Given the description of an element on the screen output the (x, y) to click on. 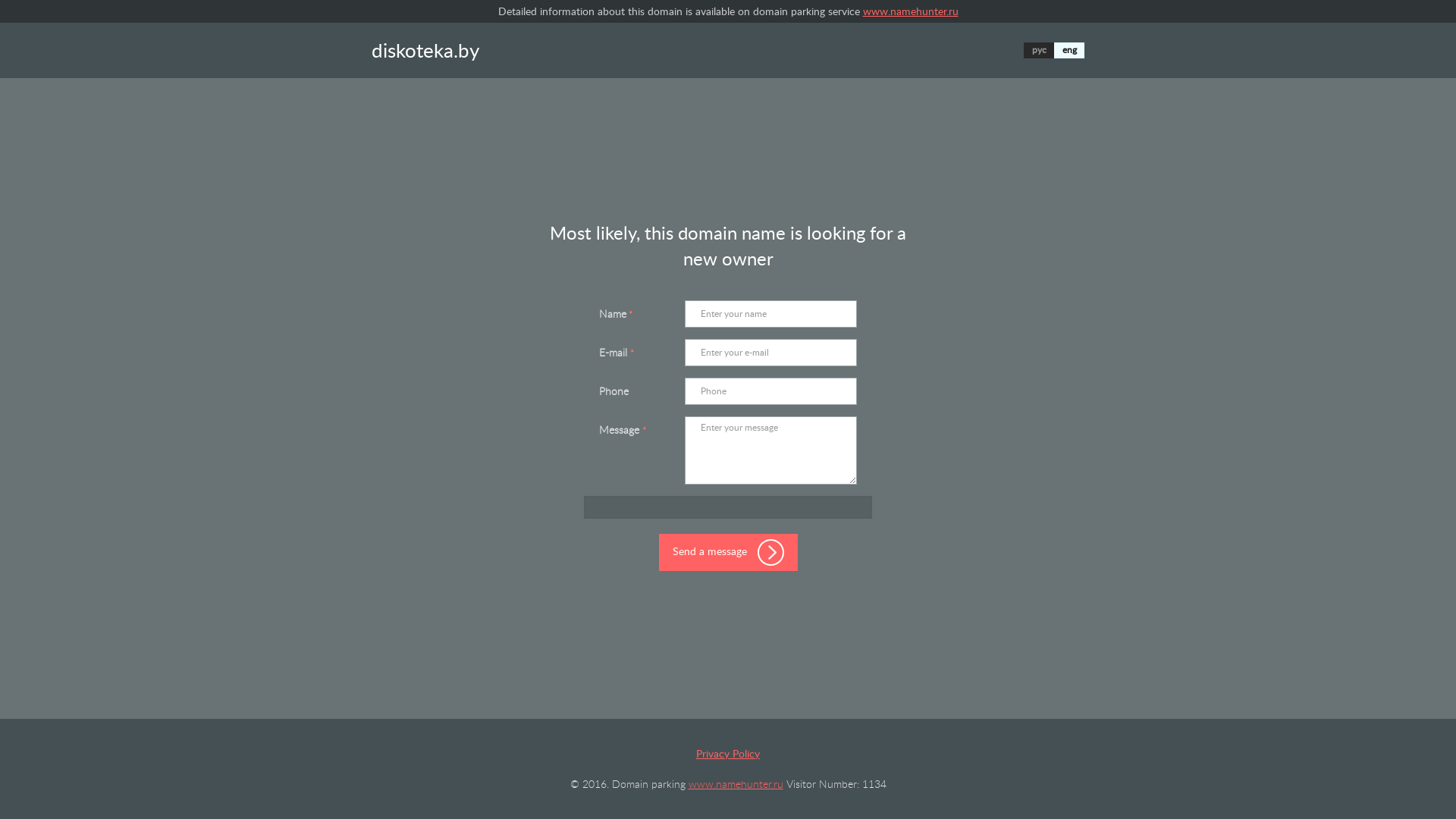
www.namehunter.ru Element type: text (910, 11)
Send a message Element type: text (727, 552)
diskoteka.by Element type: text (425, 50)
Privacy Policy Element type: text (727, 753)
www.namehunter.ru Element type: text (735, 784)
